Given the description of an element on the screen output the (x, y) to click on. 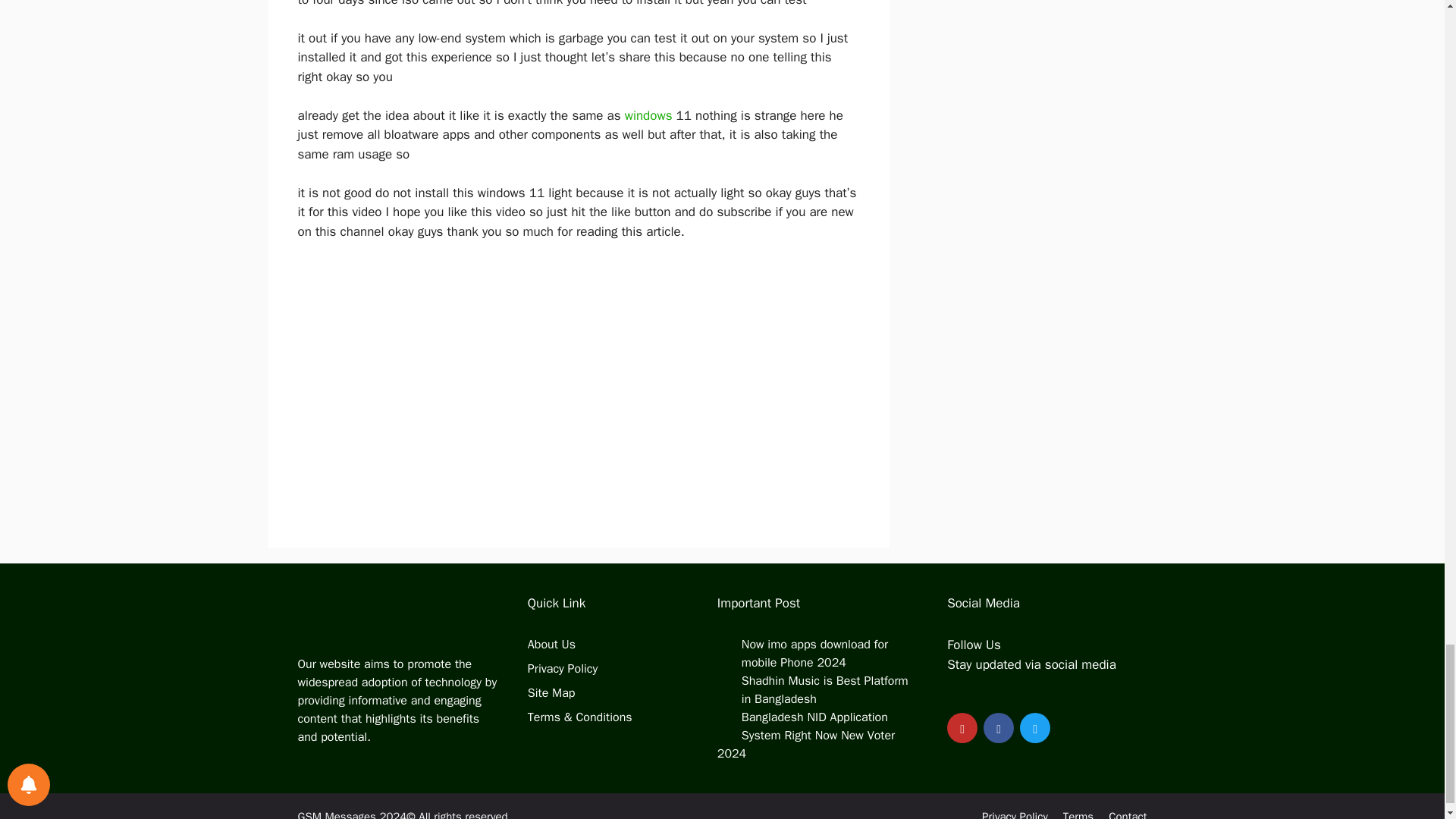
About Us (551, 644)
Site Map (551, 693)
Privacy Policy (561, 668)
windows (650, 115)
Shadhin Music is Best Platform in Bangladesh (824, 689)
Now imo apps download for mobile Phone 2024 (814, 653)
Bangladesh NID Application System Right Now New Voter 2024 (806, 735)
